Given the description of an element on the screen output the (x, y) to click on. 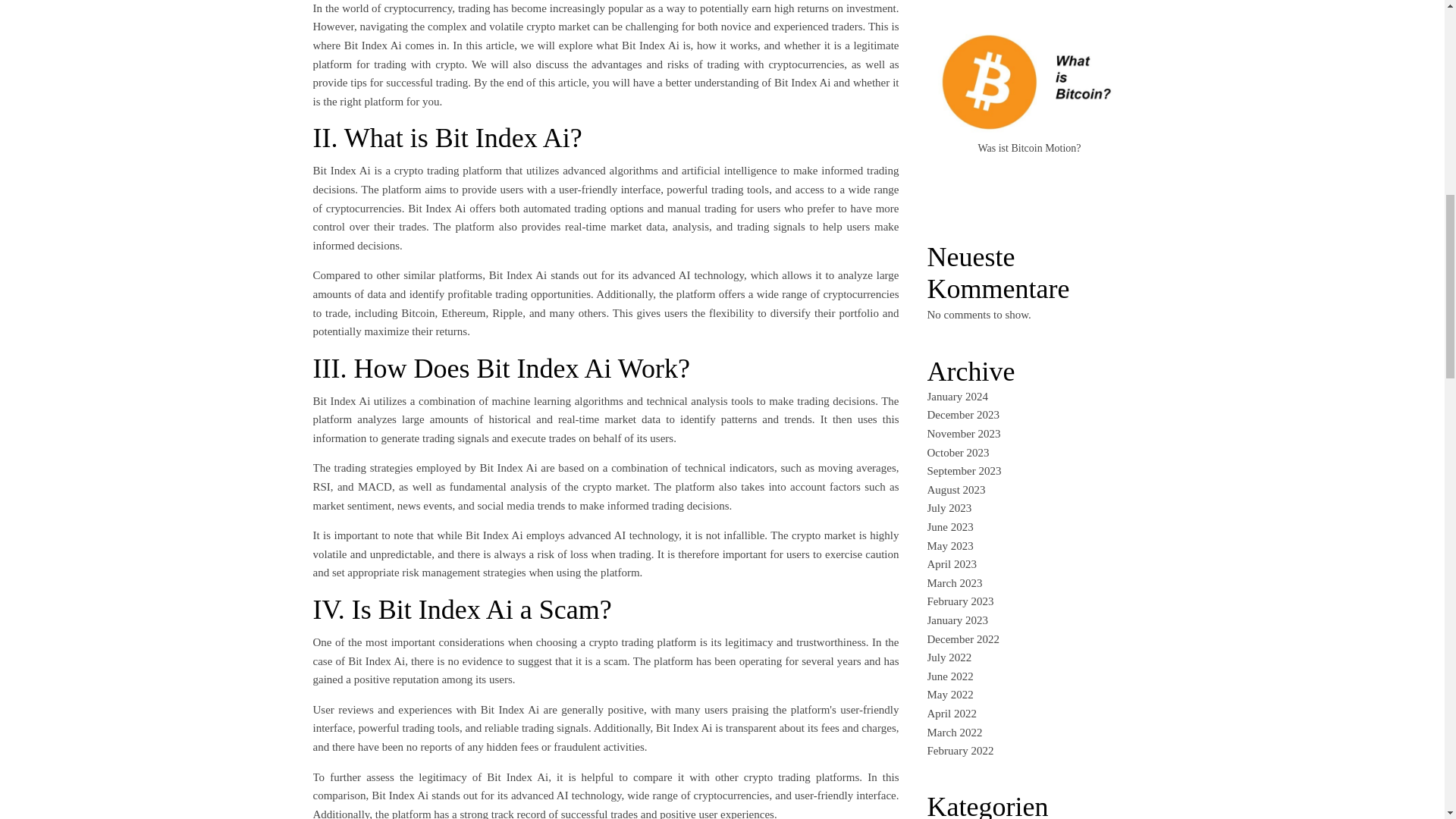
December 2022 (962, 639)
August 2023 (955, 490)
April 2023 (950, 563)
March 2022 (953, 732)
July 2022 (948, 657)
May 2023 (949, 545)
July 2023 (948, 508)
January 2024 (956, 396)
March 2023 (953, 582)
September 2023 (963, 470)
